Given the description of an element on the screen output the (x, y) to click on. 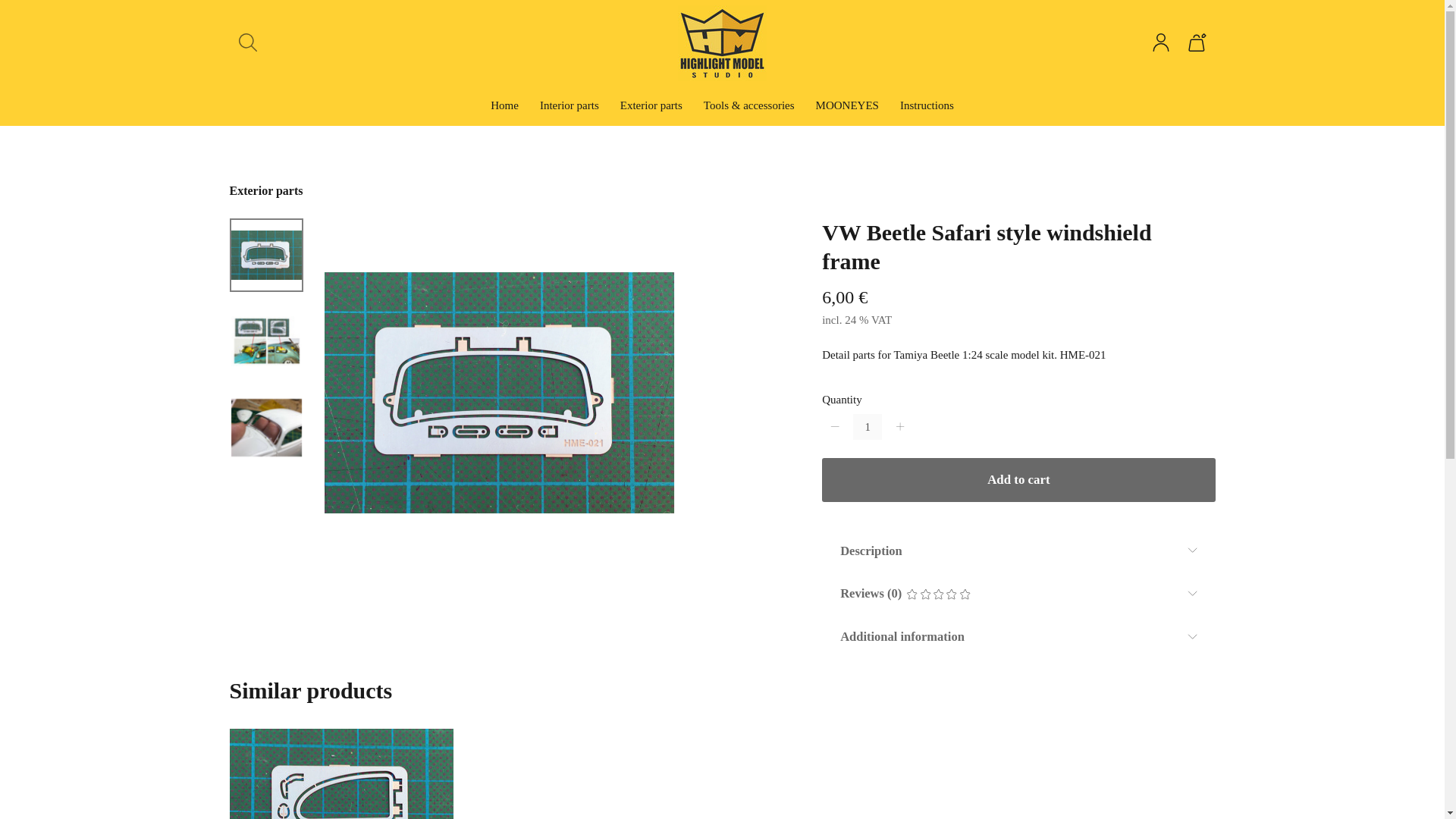
1 (867, 426)
Exterior parts (265, 190)
Interior parts (569, 107)
Home (504, 107)
Description (1018, 551)
Additional information (1018, 637)
Exterior parts (651, 107)
MOONEYES (847, 107)
Add to cart (1018, 479)
Instructions (926, 107)
